Given the description of an element on the screen output the (x, y) to click on. 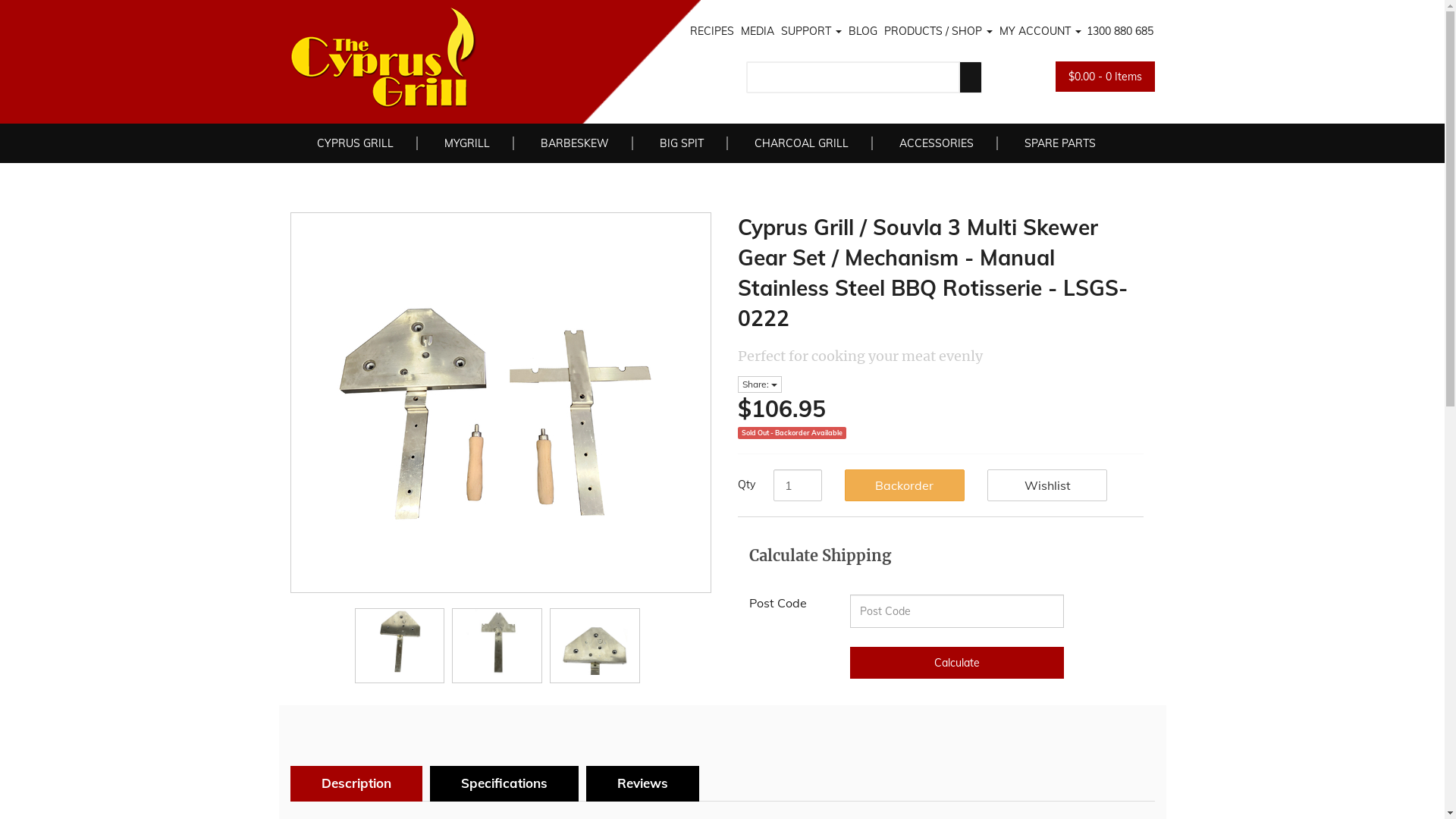
Cyprus Grill Element type: hover (463, 57)
RECIPES Element type: text (709, 30)
BIG SPIT Element type: text (667, 143)
BLOG Element type: text (861, 30)
Calculate Element type: text (956, 662)
PRODUCTS / SHOP Element type: text (936, 30)
MY ACCOUNT Element type: text (1038, 30)
Large View Element type: hover (400, 641)
1300 880 685 Element type: text (1118, 30)
Backorder Element type: text (904, 485)
Wishlist Element type: text (1047, 485)
Share: Element type: text (759, 384)
CYPRUS GRILL Element type: text (346, 143)
ACCESSORIES Element type: text (922, 143)
Large View Element type: hover (594, 641)
Specifications Element type: text (503, 782)
Reviews Element type: text (641, 782)
Large View Element type: hover (497, 641)
Description Element type: text (355, 782)
MYGRILL Element type: text (452, 143)
MEDIA Element type: text (756, 30)
SPARE PARTS Element type: text (1045, 143)
SUPPORT Element type: text (809, 30)
BARBESKEW Element type: text (559, 143)
CHARCOAL GRILL Element type: text (786, 143)
$0.00 - 0 Items Element type: text (1104, 75)
Search Element type: text (970, 76)
